Given the description of an element on the screen output the (x, y) to click on. 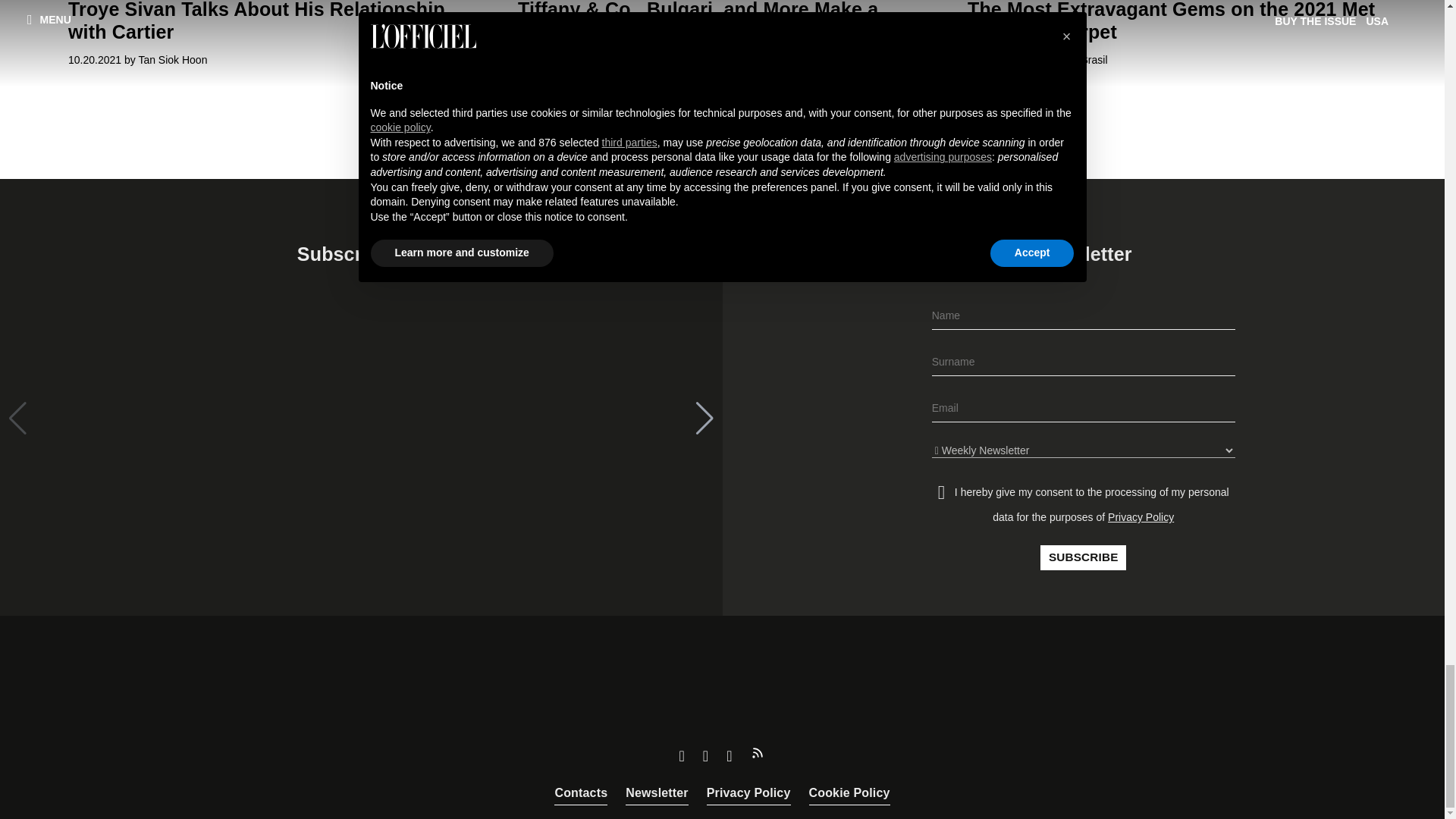
Privacy Policy (748, 793)
Subscribe (1083, 557)
Cookie Policy (848, 793)
